Given the description of an element on the screen output the (x, y) to click on. 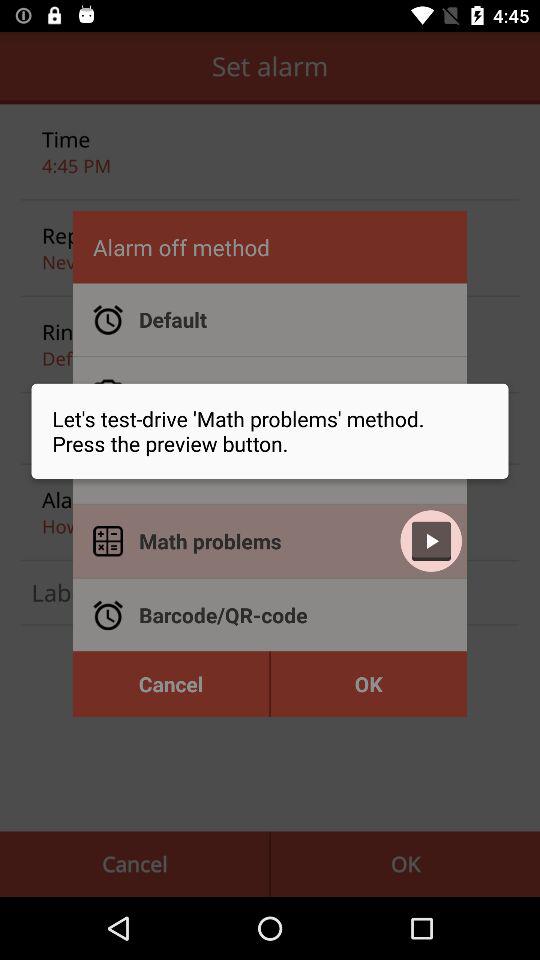
click on ok (369, 683)
